Given the description of an element on the screen output the (x, y) to click on. 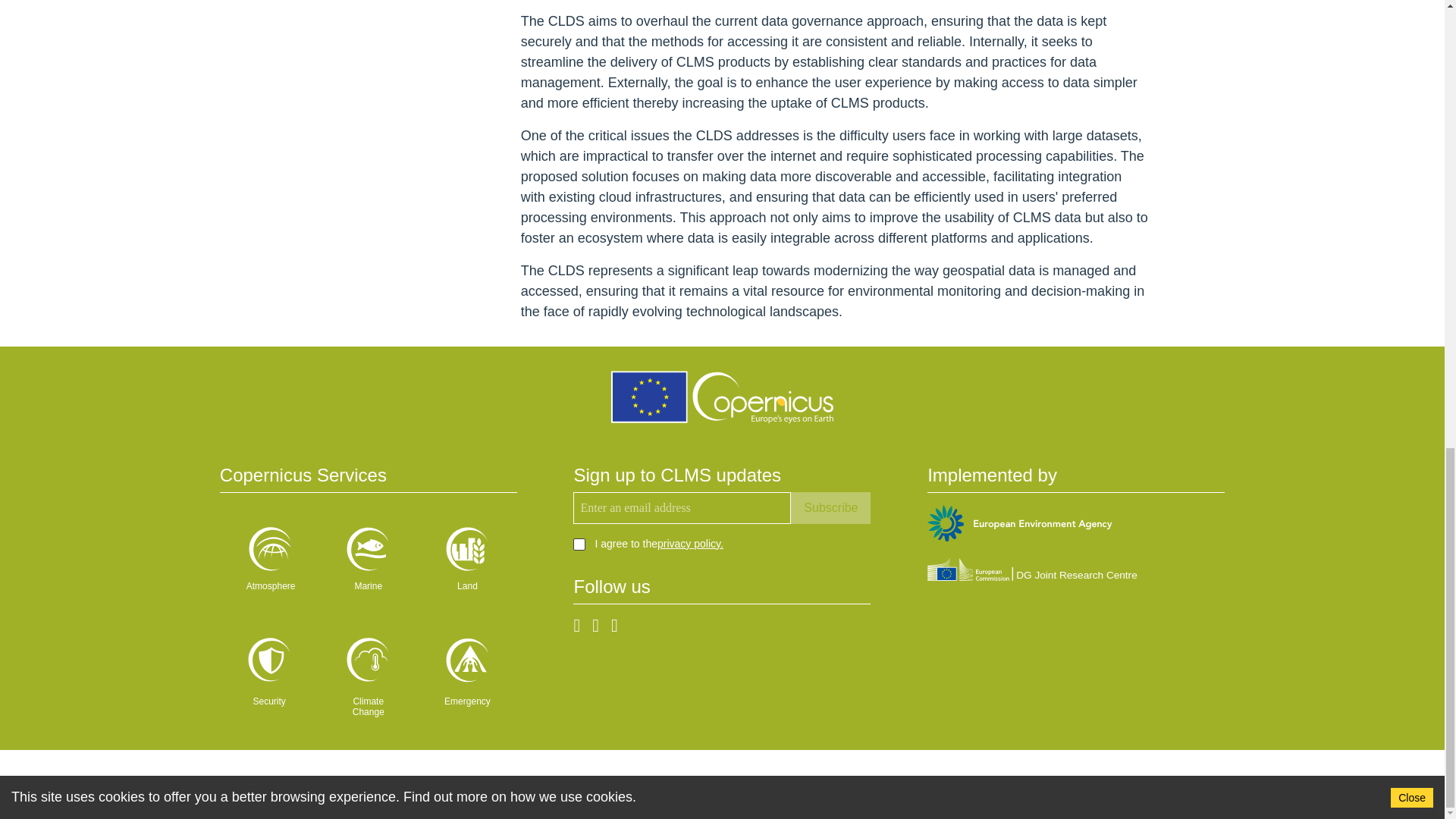
European Environment Agency (1019, 525)
Joint Research Centre (1032, 572)
privacy policy. (690, 543)
Subscribe (830, 508)
